Given the description of an element on the screen output the (x, y) to click on. 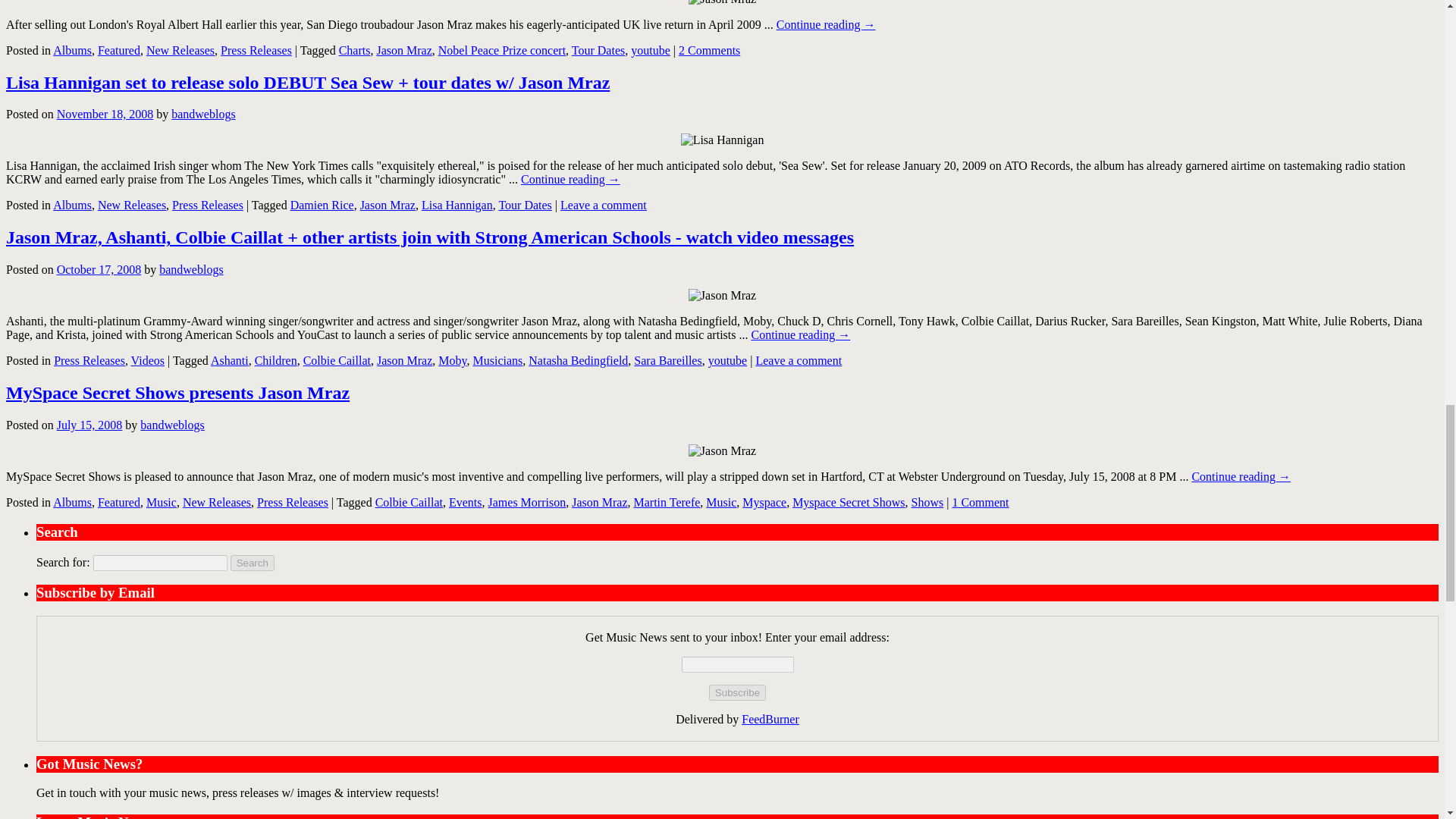
Subscribe (737, 692)
Search (252, 562)
